Given the description of an element on the screen output the (x, y) to click on. 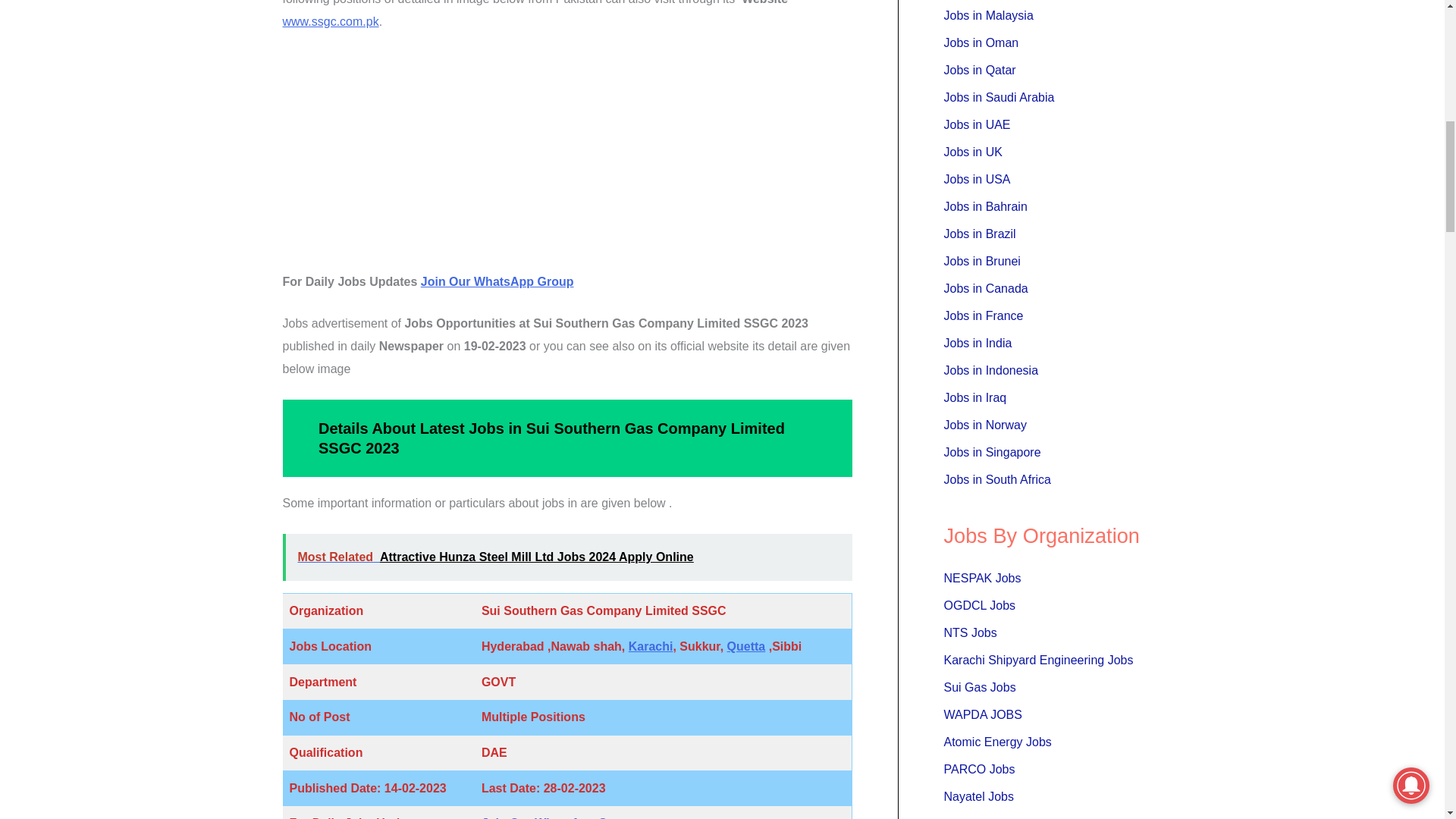
Advertisement (566, 158)
